Given the description of an element on the screen output the (x, y) to click on. 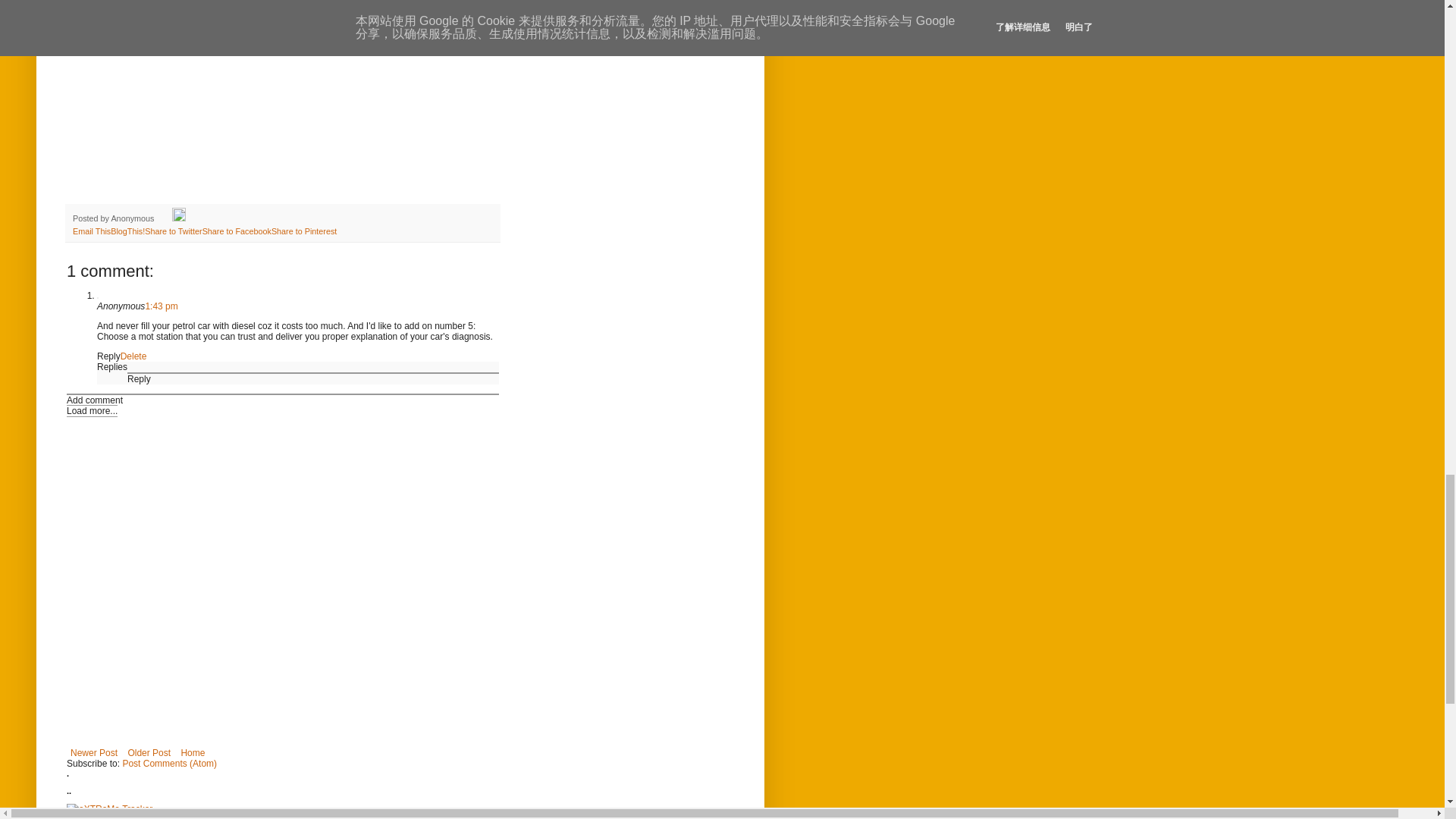
Add comment (94, 399)
1:43 pm (160, 306)
Replies (112, 366)
Load more... (91, 410)
Older Post (148, 752)
Older Post (148, 752)
Share to Facebook (236, 230)
Share to Pinterest (303, 230)
Share to Facebook (236, 230)
Newer Post (93, 752)
Newer Post (93, 752)
Edit Post (178, 217)
Email Post (163, 217)
Share to Pinterest (303, 230)
Home (192, 752)
